Given the description of an element on the screen output the (x, y) to click on. 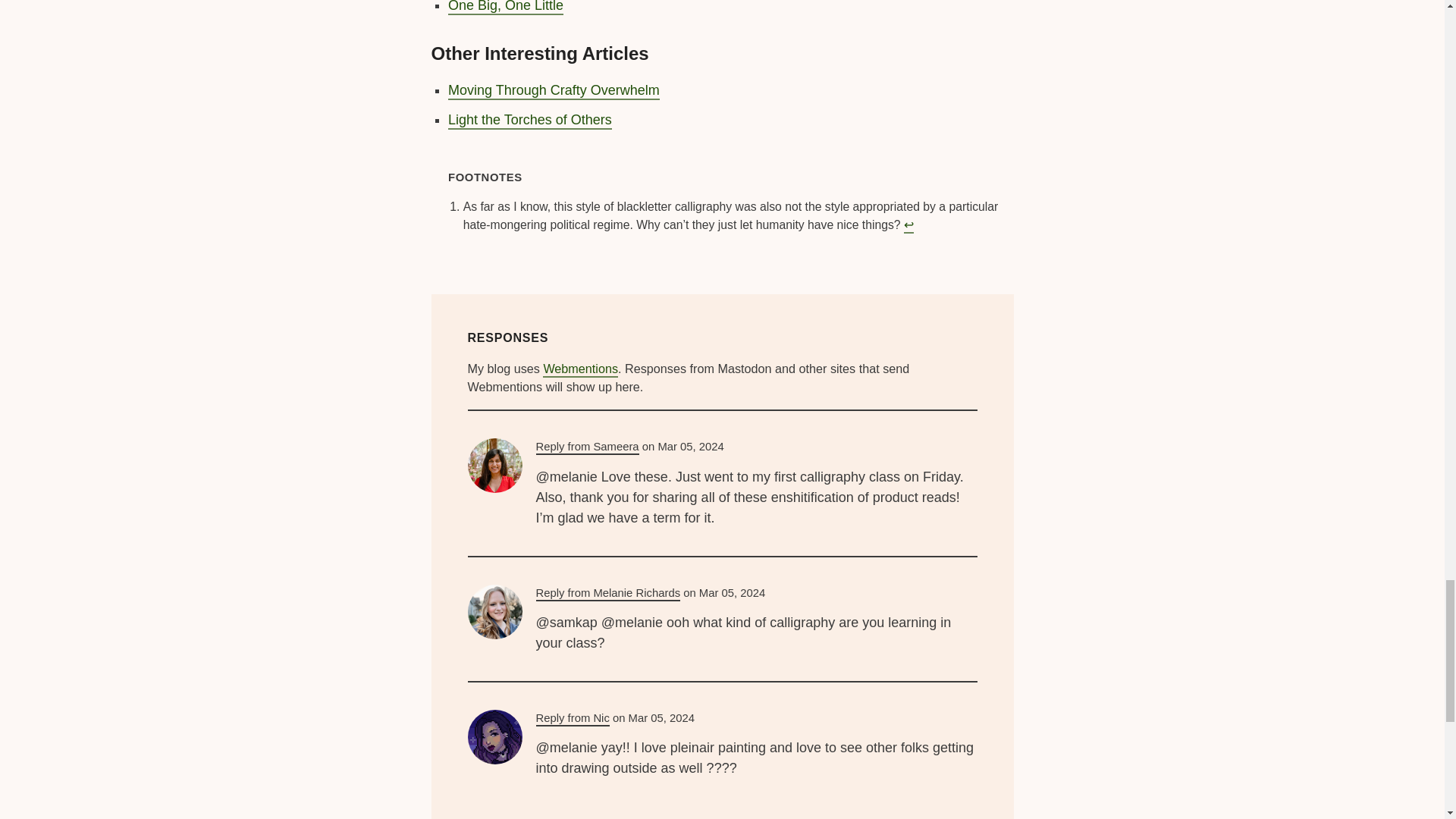
Reply from Nic (571, 718)
Light the Torches of Others (529, 120)
Reply from Melanie Richards (607, 594)
Moving Through Crafty Overwhelm (553, 90)
Reply from Sameera (587, 447)
Webmentions (580, 369)
One Big, One Little (505, 7)
